Given the description of an element on the screen output the (x, y) to click on. 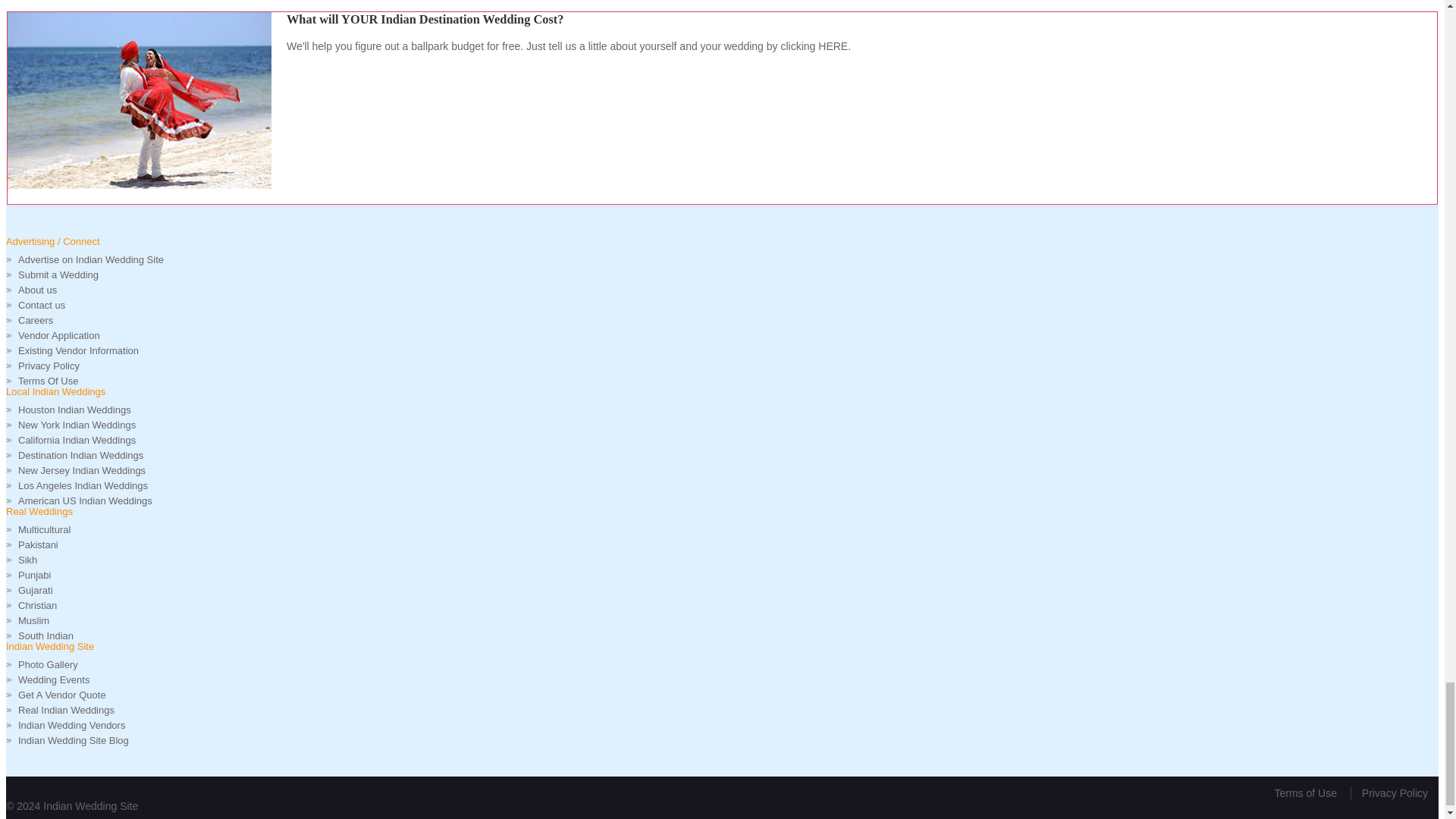
destination indian wedding (138, 100)
